Given the description of an element on the screen output the (x, y) to click on. 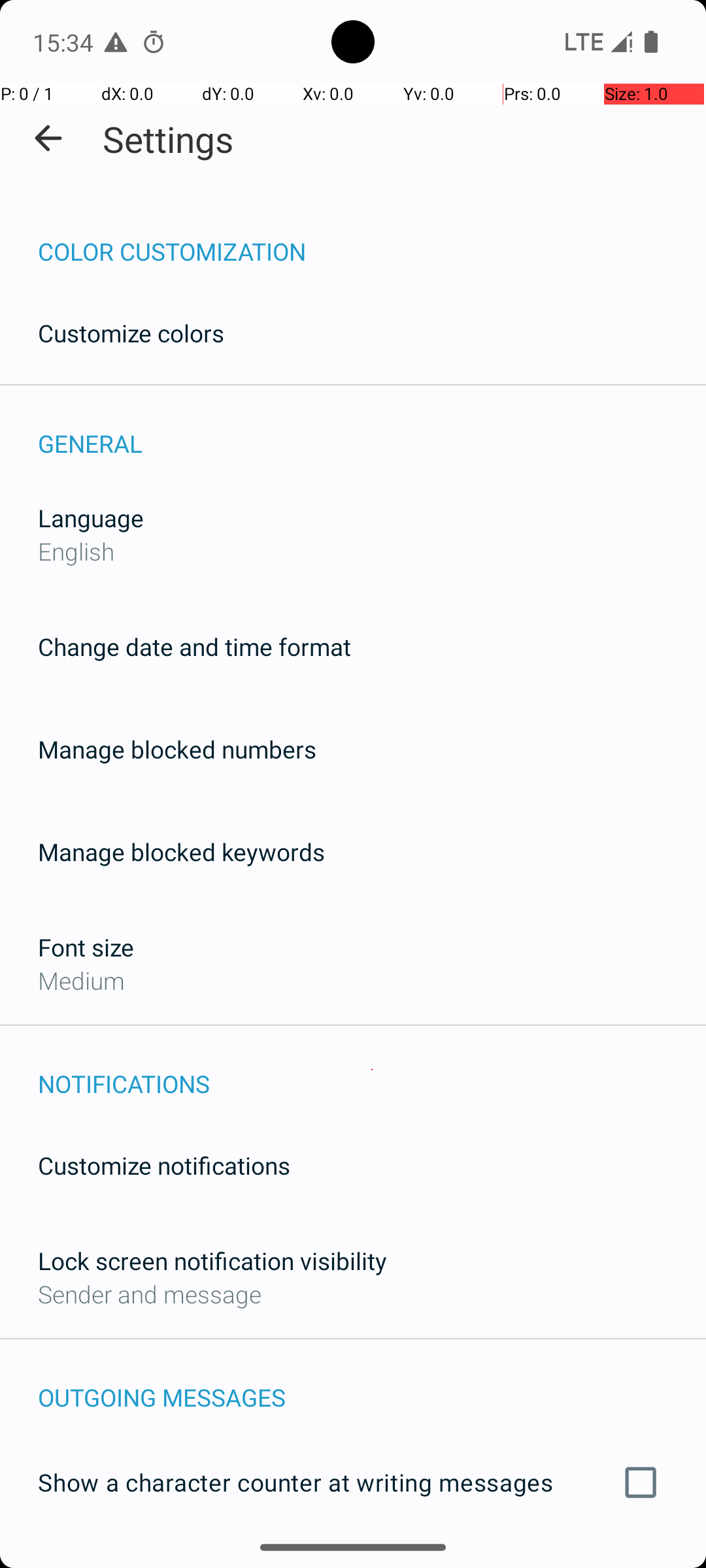
NOTIFICATIONS Element type: android.widget.TextView (371, 1069)
OUTGOING MESSAGES Element type: android.widget.TextView (371, 1383)
Change date and time format Element type: android.widget.TextView (194, 646)
Manage blocked numbers Element type: android.widget.TextView (176, 748)
Manage blocked keywords Element type: android.widget.TextView (180, 851)
Font size Element type: android.widget.TextView (85, 946)
Medium Element type: android.widget.TextView (80, 979)
Lock screen notification visibility Element type: android.widget.TextView (211, 1260)
Sender and message Element type: android.widget.TextView (149, 1293)
Show a character counter at writing messages Element type: android.widget.CheckBox (352, 1482)
Remove accents and diacritics at sending messages Element type: android.widget.CheckBox (352, 1559)
